Given the description of an element on the screen output the (x, y) to click on. 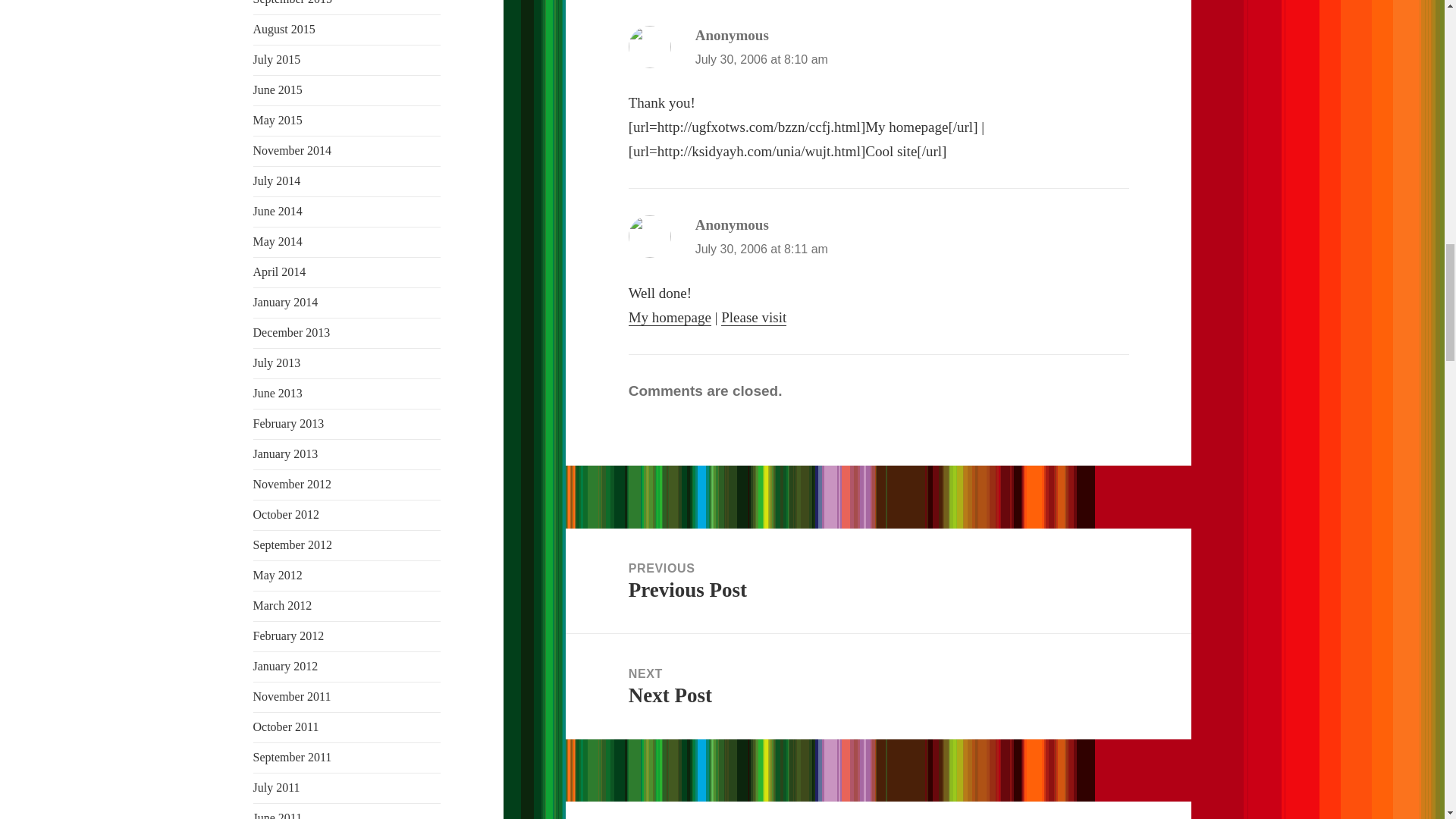
September 2015 (292, 2)
July 2015 (277, 59)
August 2015 (284, 29)
June 2015 (277, 89)
May 2015 (277, 119)
November 2014 (292, 150)
